Given the description of an element on the screen output the (x, y) to click on. 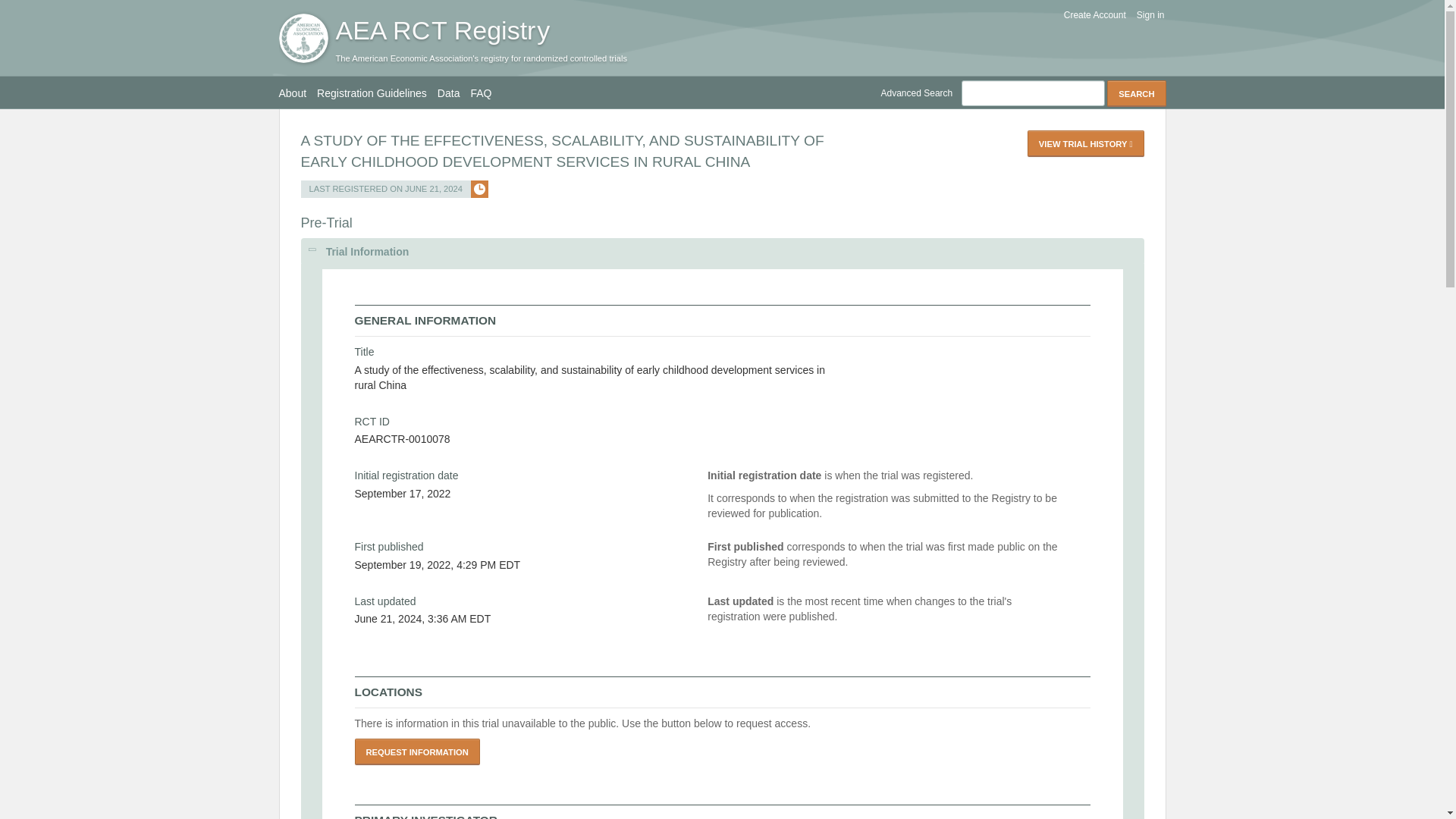
Trial Information (720, 251)
Advanced Search (921, 92)
About (298, 92)
REQUEST INFORMATION (417, 751)
Data (454, 92)
VIEW TRIAL HISTORY (1085, 143)
Sign in (1145, 14)
Search (1136, 93)
Registration Guidelines (377, 92)
Search (1136, 93)
FAQ (486, 92)
Create Account (1089, 14)
Search (1136, 93)
